Given the description of an element on the screen output the (x, y) to click on. 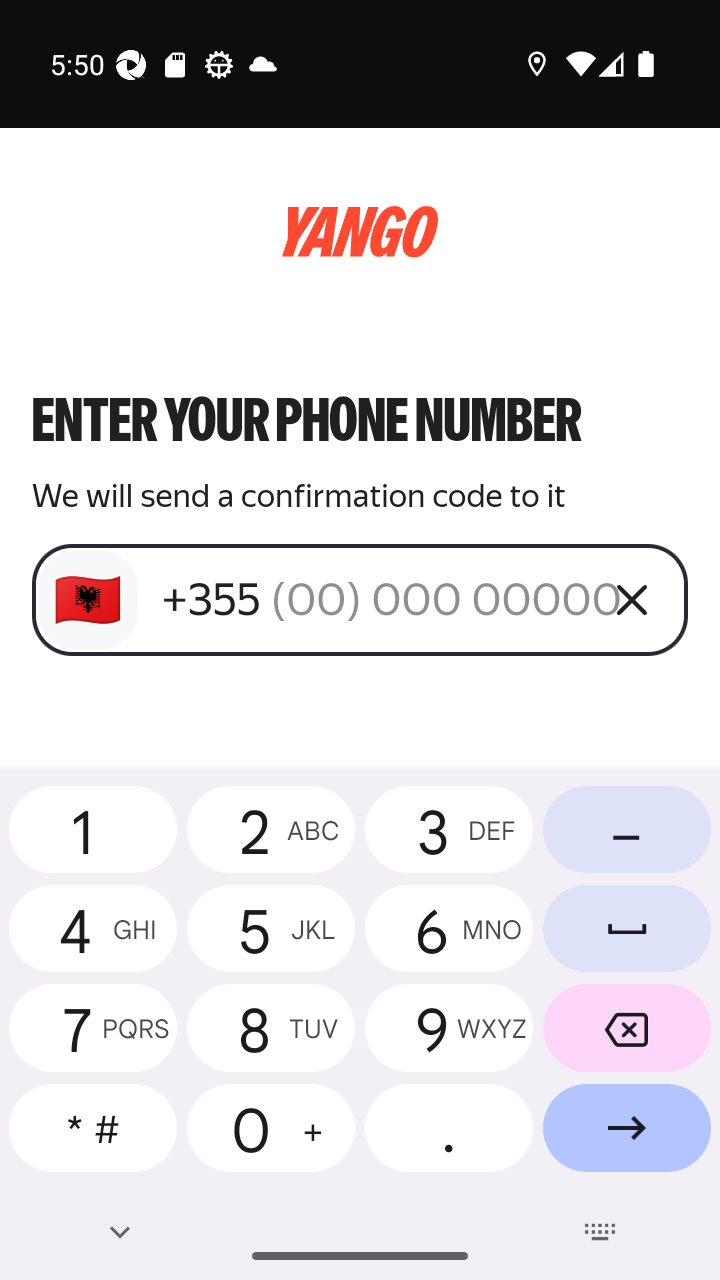
logo (359, 231)
🇦🇱 (88, 600)
+355 (372, 599)
